Given the description of an element on the screen output the (x, y) to click on. 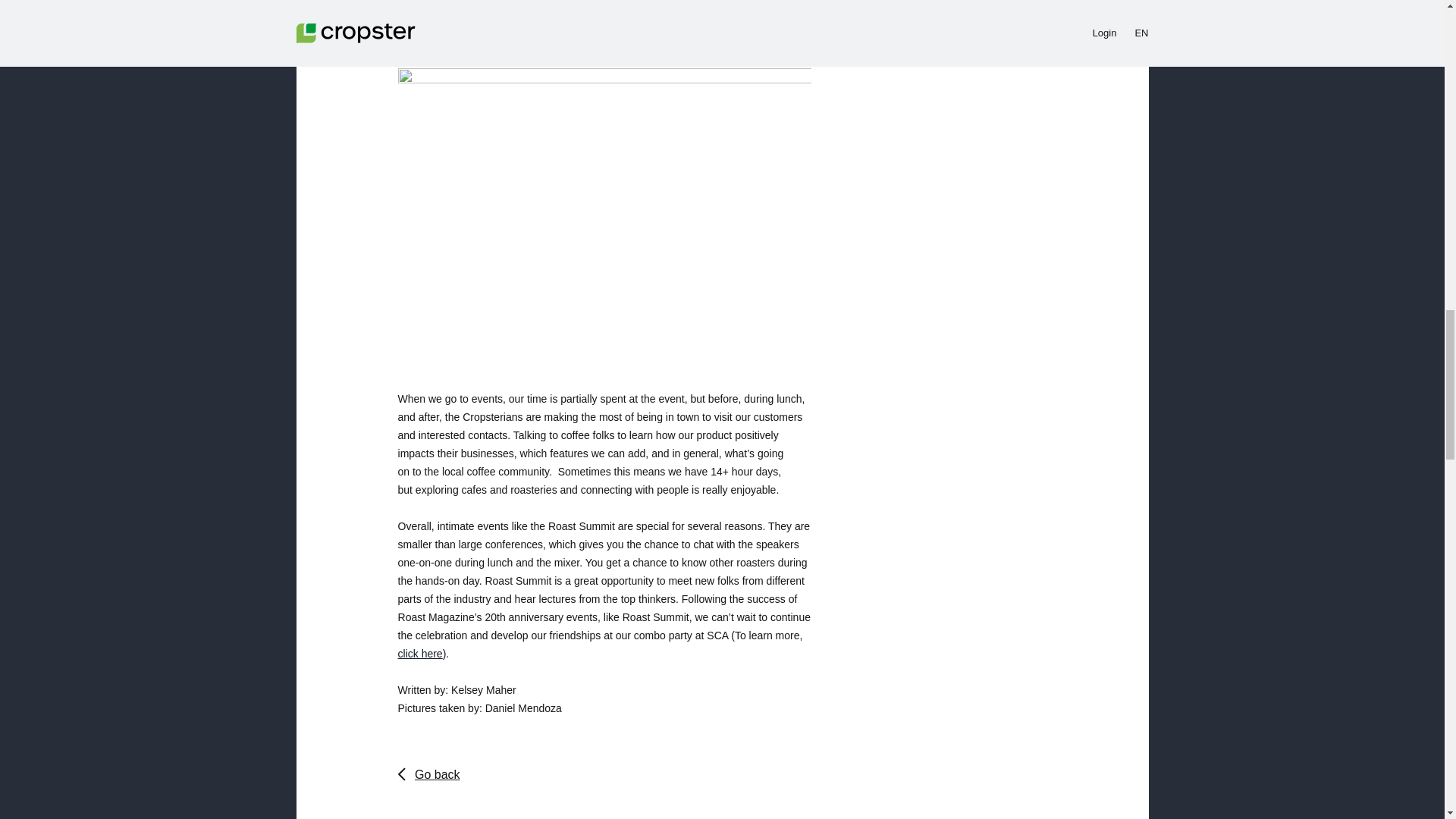
click here (419, 653)
Go back (428, 774)
